Given the description of an element on the screen output the (x, y) to click on. 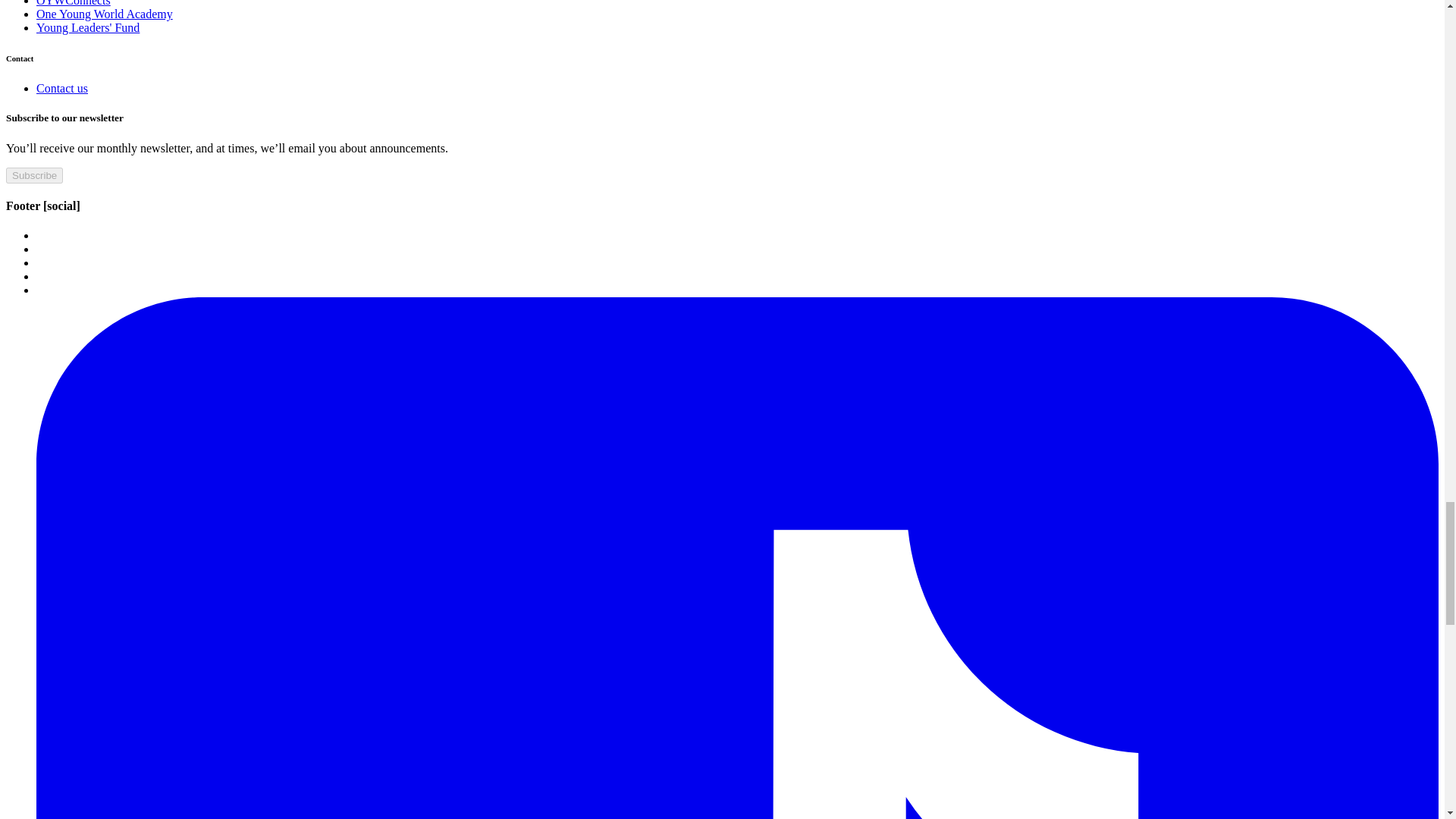
Subscribe (33, 174)
